Given the description of an element on the screen output the (x, y) to click on. 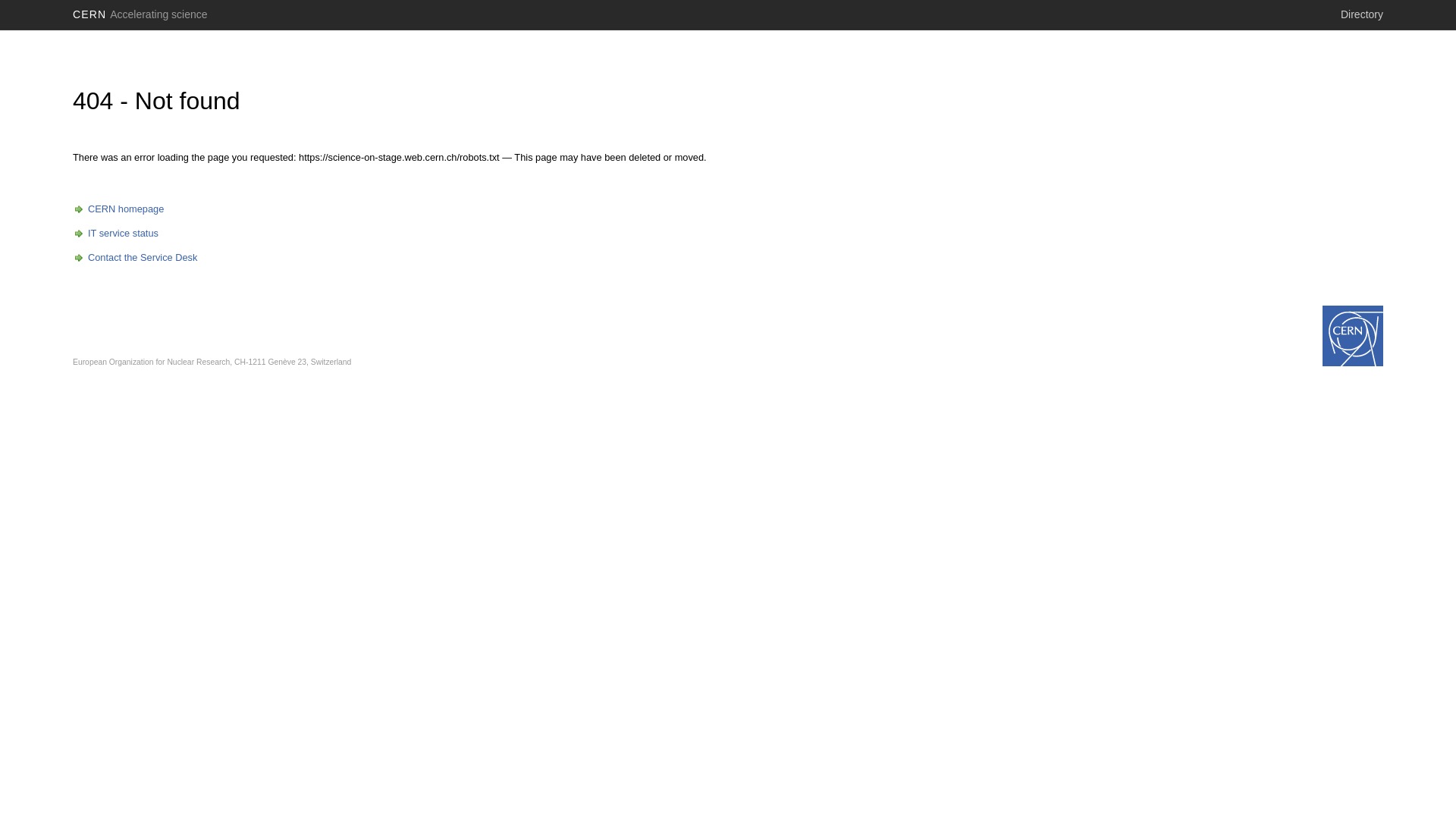
CERN Accelerating science Element type: text (139, 14)
home.cern Element type: hover (1352, 335)
CERN homepage Element type: text (117, 208)
IT service status Element type: text (115, 232)
Contact the Service Desk Element type: text (134, 257)
Directory Element type: text (1361, 14)
